Given the description of an element on the screen output the (x, y) to click on. 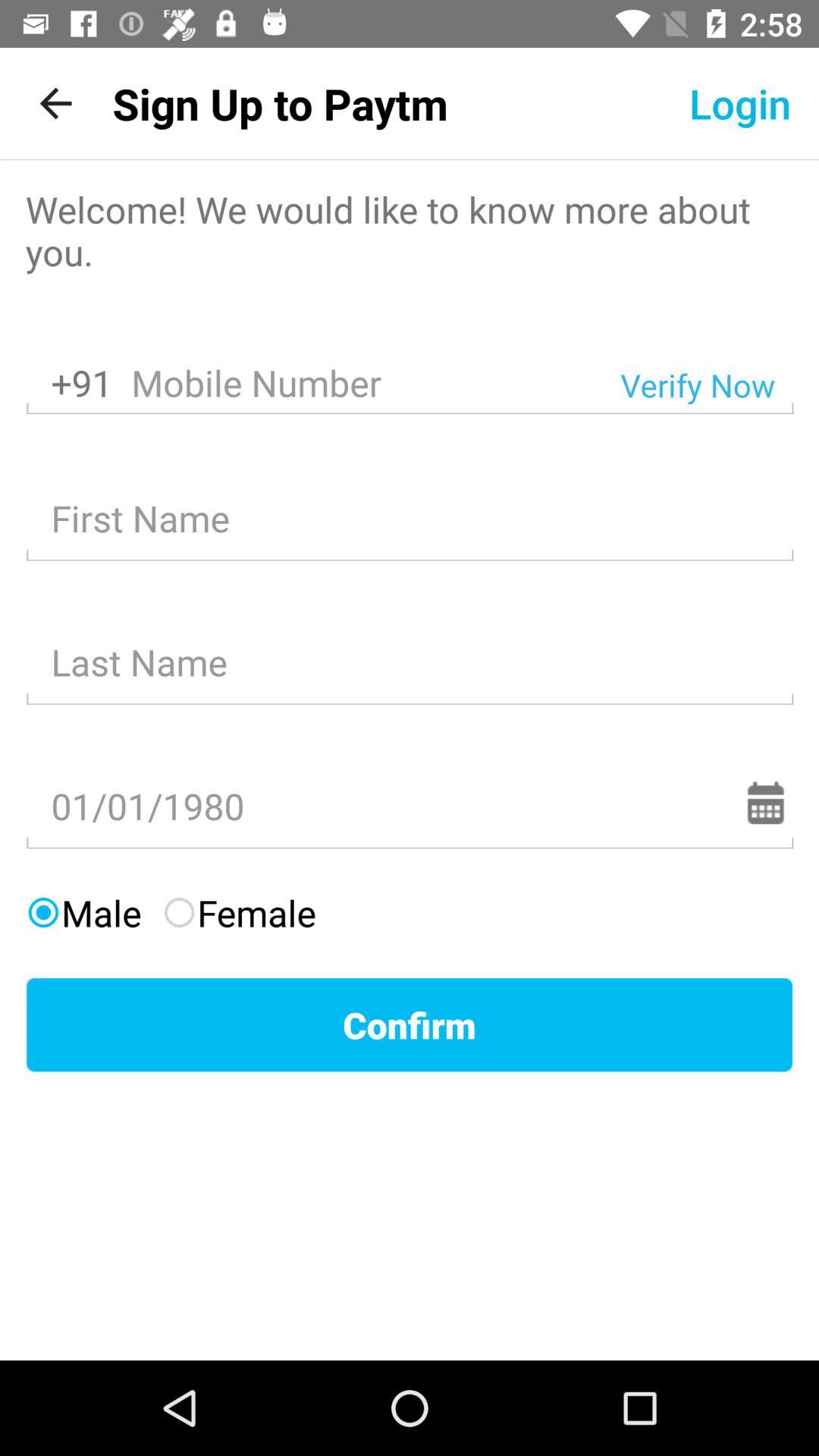
select the item above welcome we would item (280, 103)
